Given the description of an element on the screen output the (x, y) to click on. 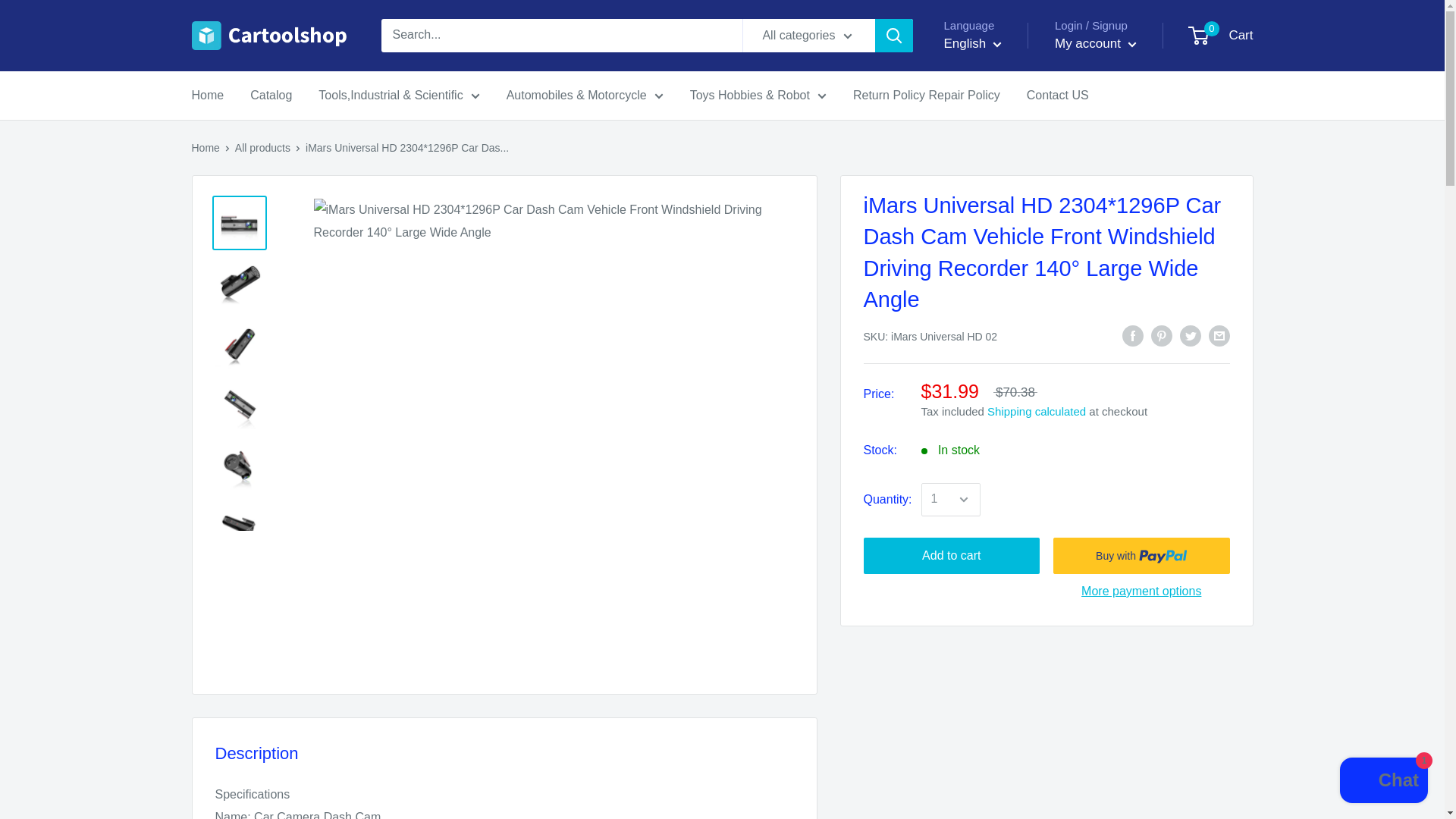
Shopify online store chat (1383, 781)
